Given the description of an element on the screen output the (x, y) to click on. 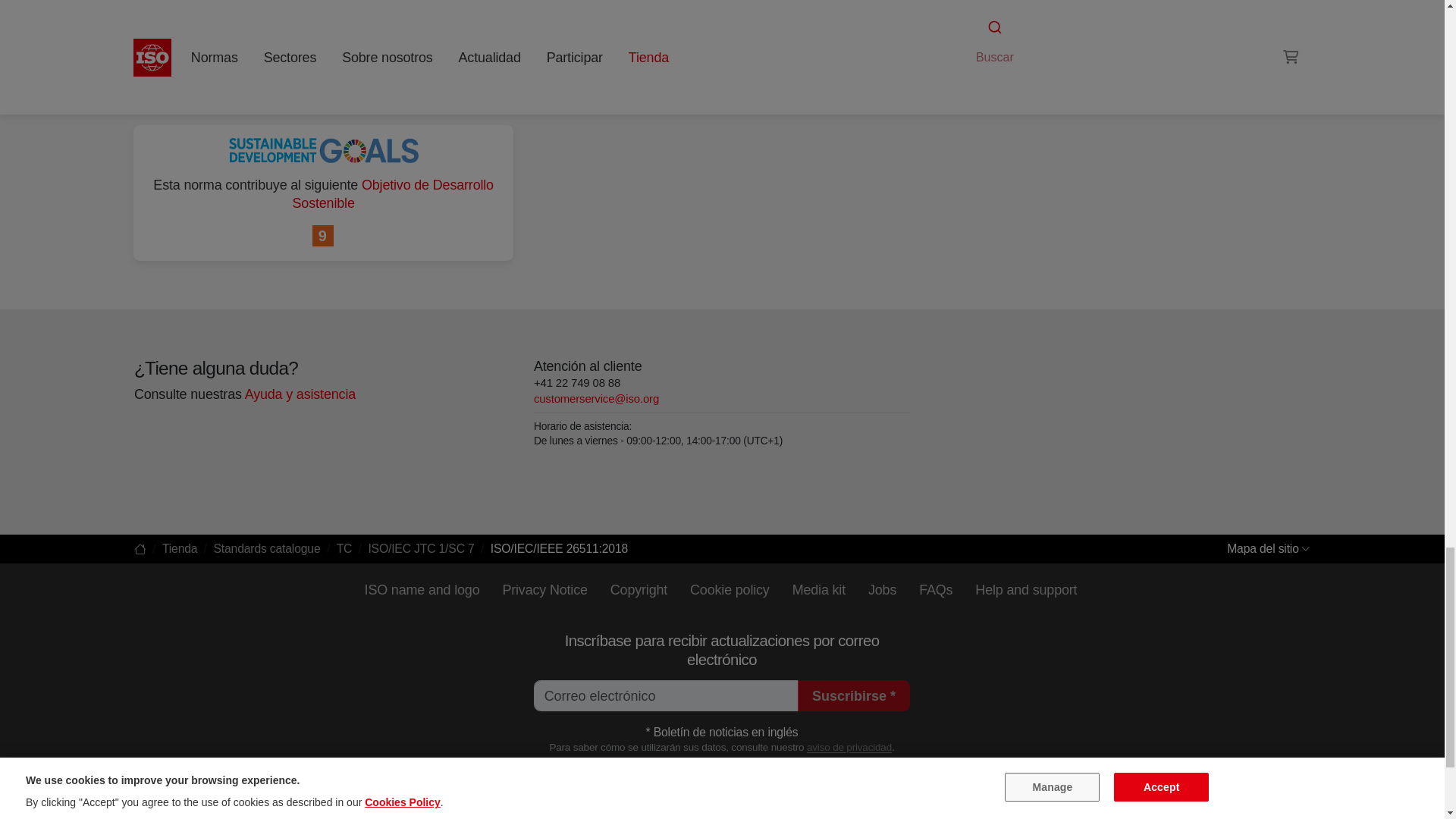
Industry, Innovation and Infrastructure (323, 236)
